Given the description of an element on the screen output the (x, y) to click on. 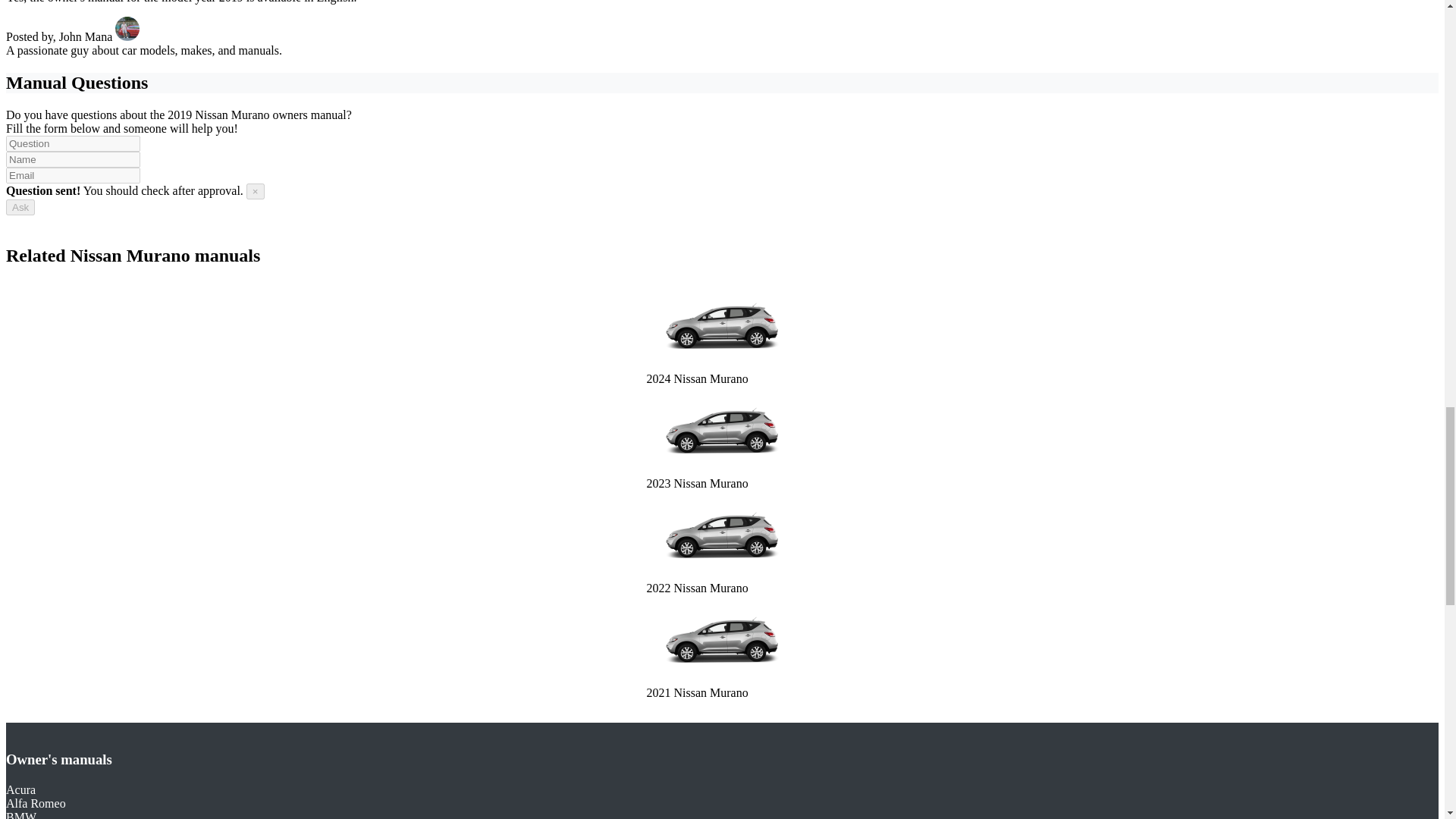
Acura (19, 789)
John Mana (99, 36)
BMW (20, 814)
Alfa Romeo (35, 802)
Ask (19, 207)
